Given the description of an element on the screen output the (x, y) to click on. 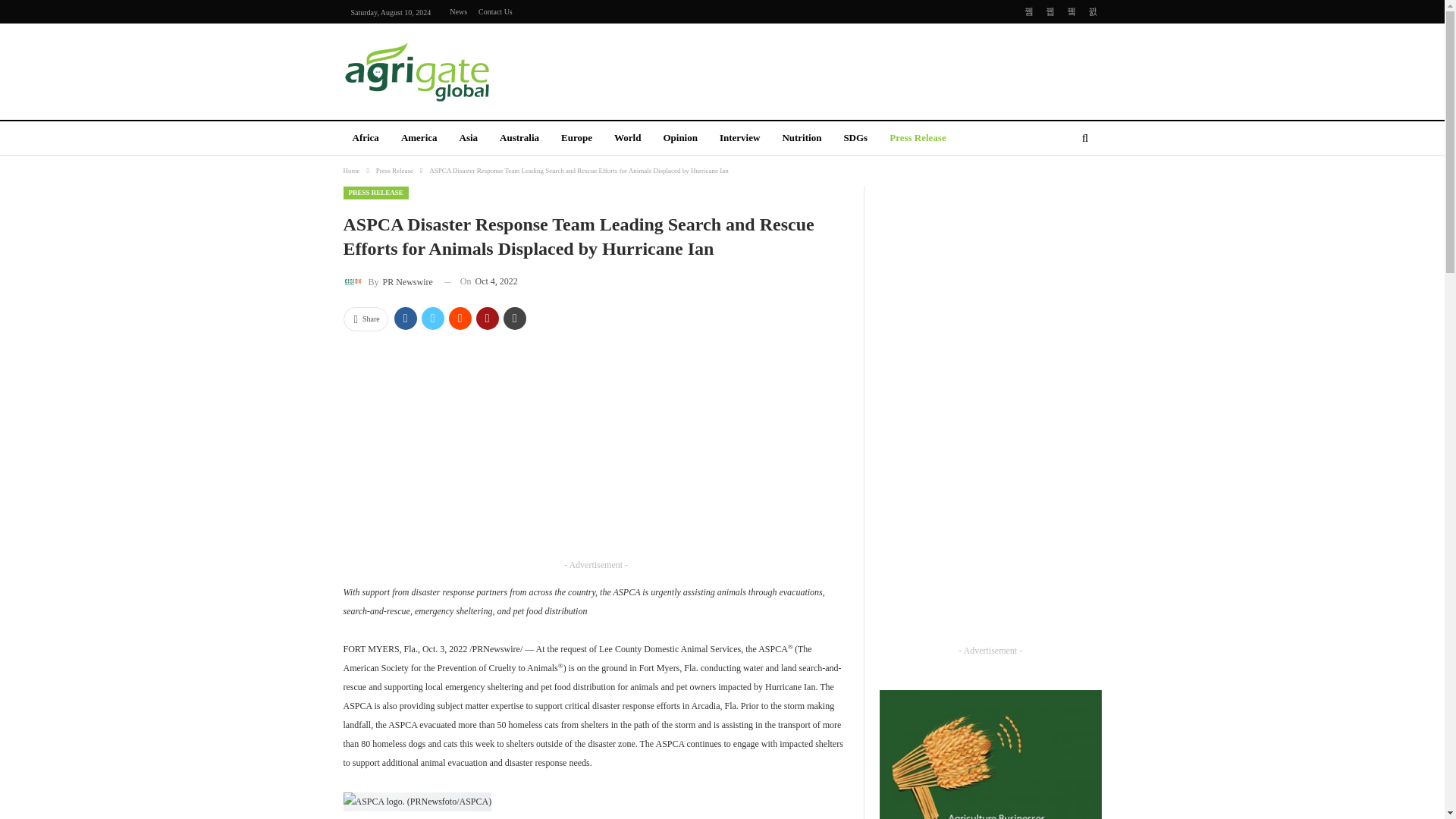
World (627, 139)
America (418, 139)
Interview (739, 139)
Advertisement (595, 449)
Australia (519, 139)
Nutrition (801, 139)
PRESS RELEASE (374, 192)
By PR Newswire (387, 281)
Press Release (917, 139)
Asia (468, 139)
